Given the description of an element on the screen output the (x, y) to click on. 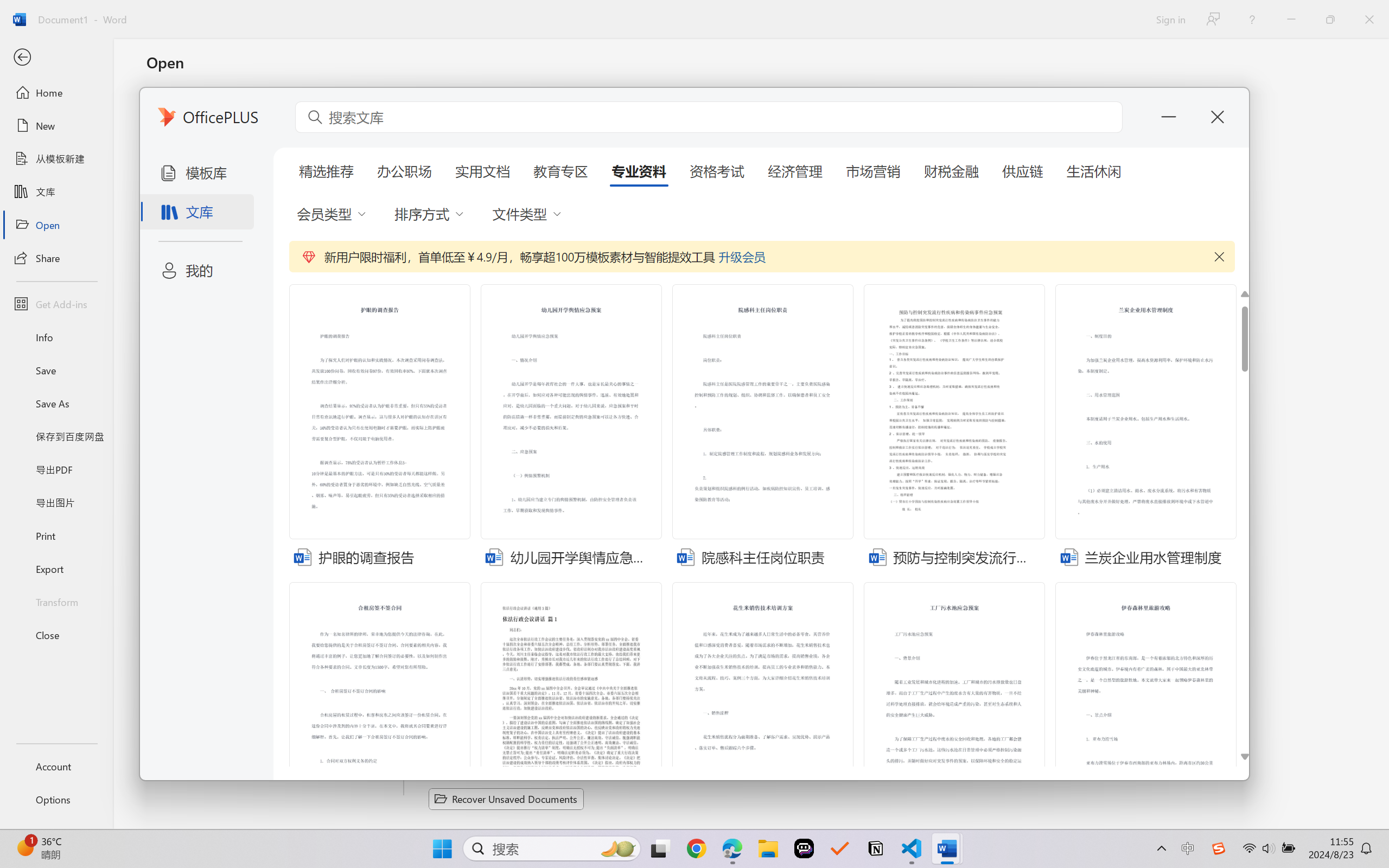
Save As (56, 403)
Get Add-ins (56, 303)
